Given the description of an element on the screen output the (x, y) to click on. 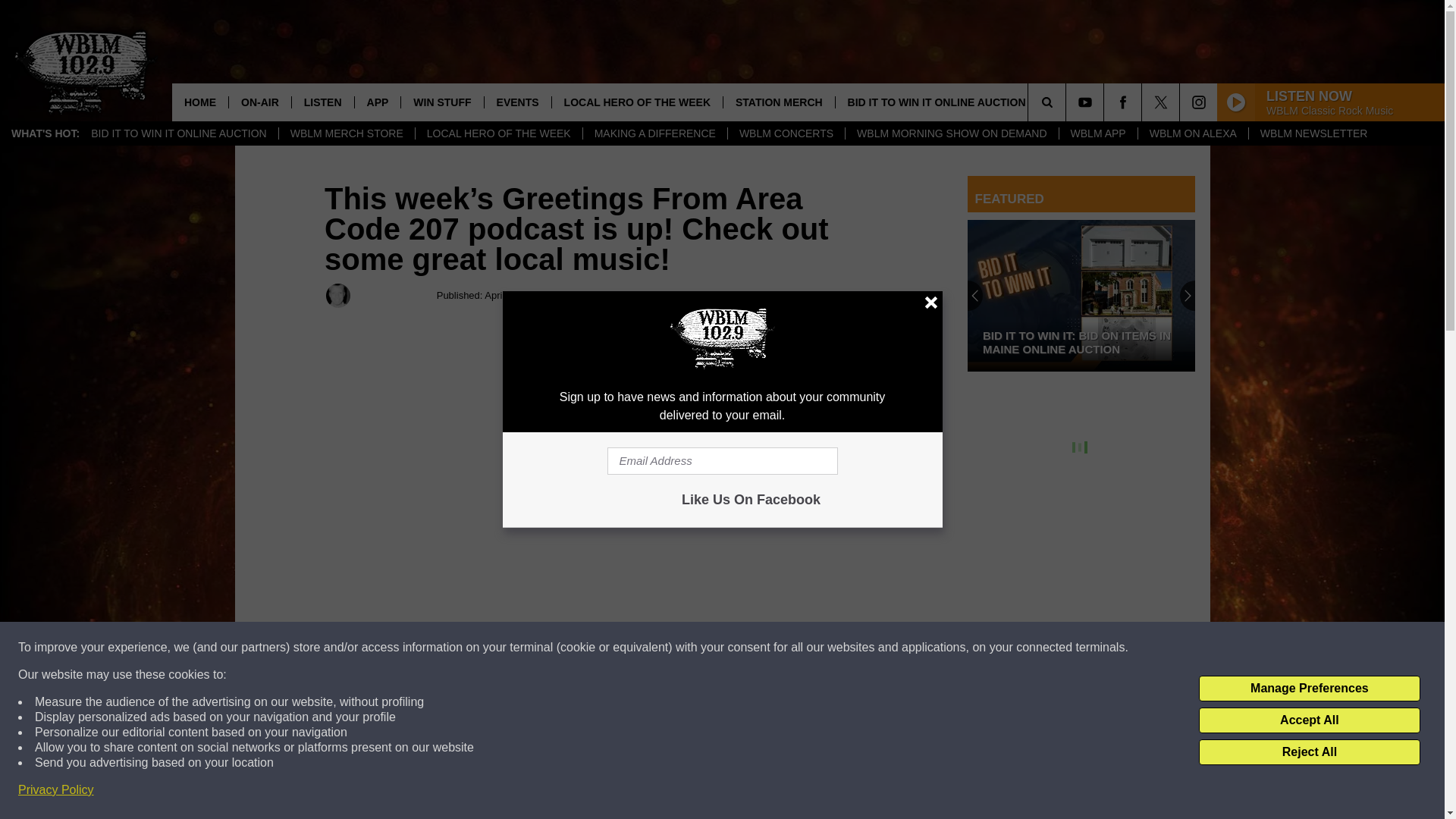
LOCAL HERO OF THE WEEK (498, 133)
APP (377, 102)
WBLM MORNING SHOW ON DEMAND (951, 133)
WBLM CONCERTS (785, 133)
WBLM ON ALEXA (1192, 133)
MAKING A DIFFERENCE (654, 133)
LISTEN (322, 102)
Reject All (1309, 751)
WBLM MERCH STORE (346, 133)
Manage Preferences (1309, 688)
SEARCH (1068, 102)
BID IT TO WIN IT ONLINE AUCTION (179, 133)
ON-AIR (259, 102)
SEARCH (1068, 102)
Accept All (1309, 720)
